Given the description of an element on the screen output the (x, y) to click on. 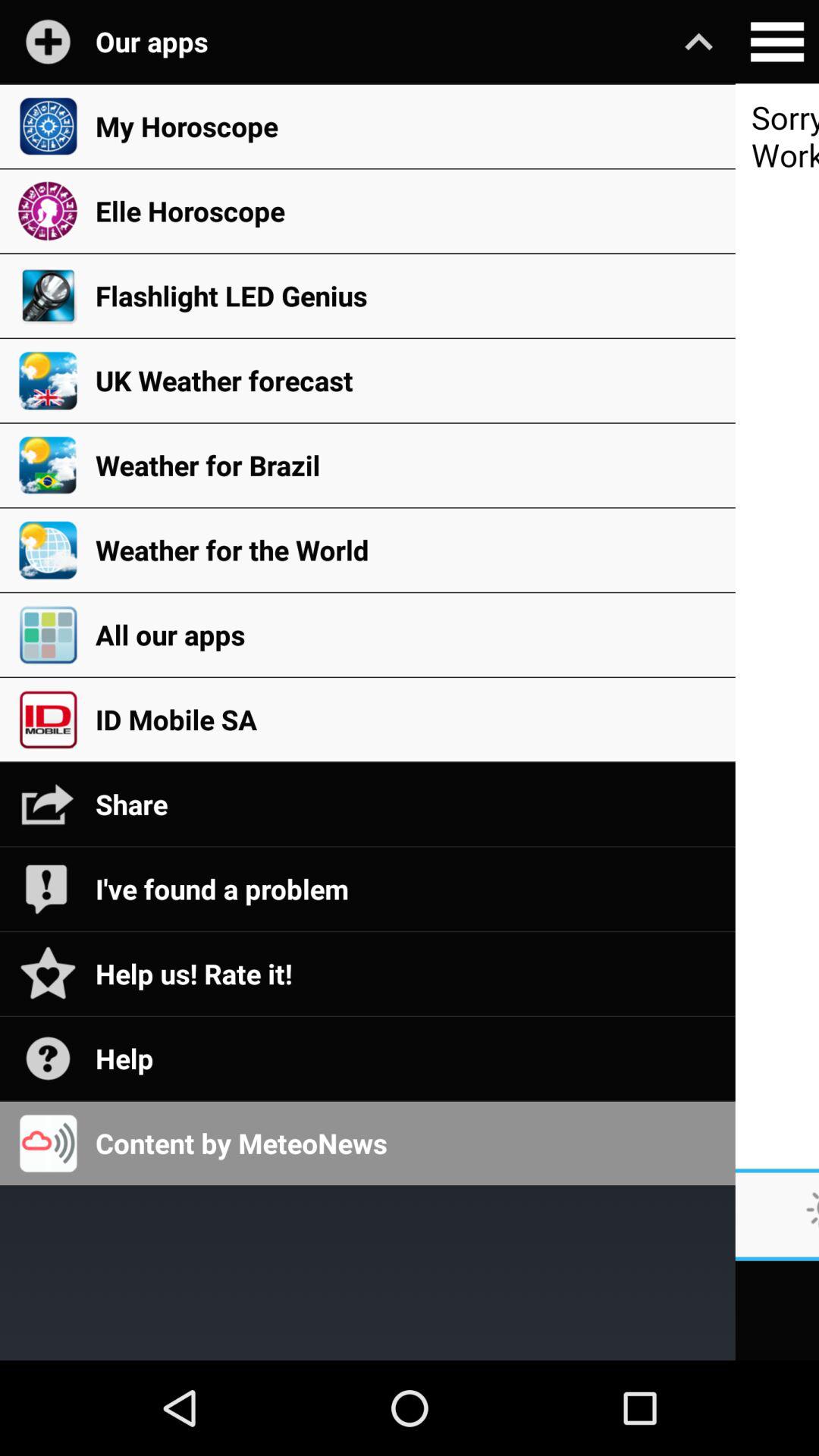
more options (777, 41)
